Given the description of an element on the screen output the (x, y) to click on. 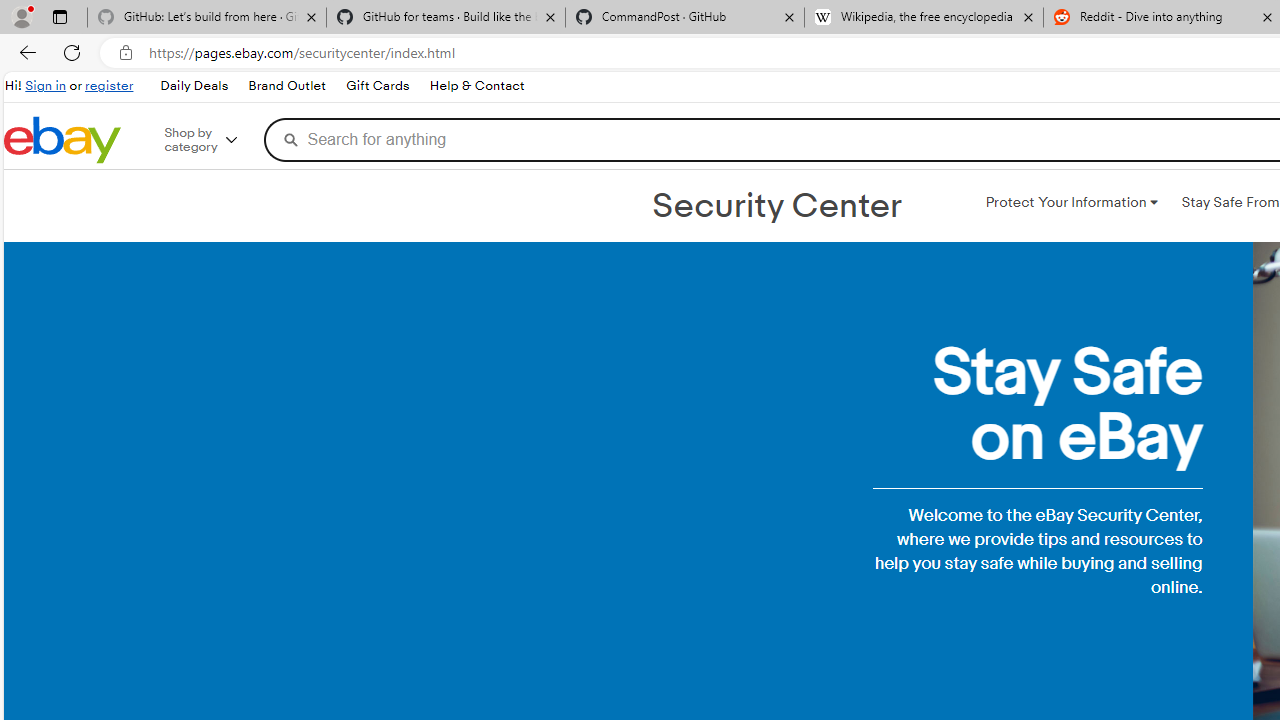
Wikipedia, the free encyclopedia (924, 17)
Protect Your Information  (1071, 202)
Help & Contact (475, 85)
eBay Home (62, 139)
Help & Contact (476, 86)
Gift Cards (377, 86)
Brand Outlet (287, 86)
